Given the description of an element on the screen output the (x, y) to click on. 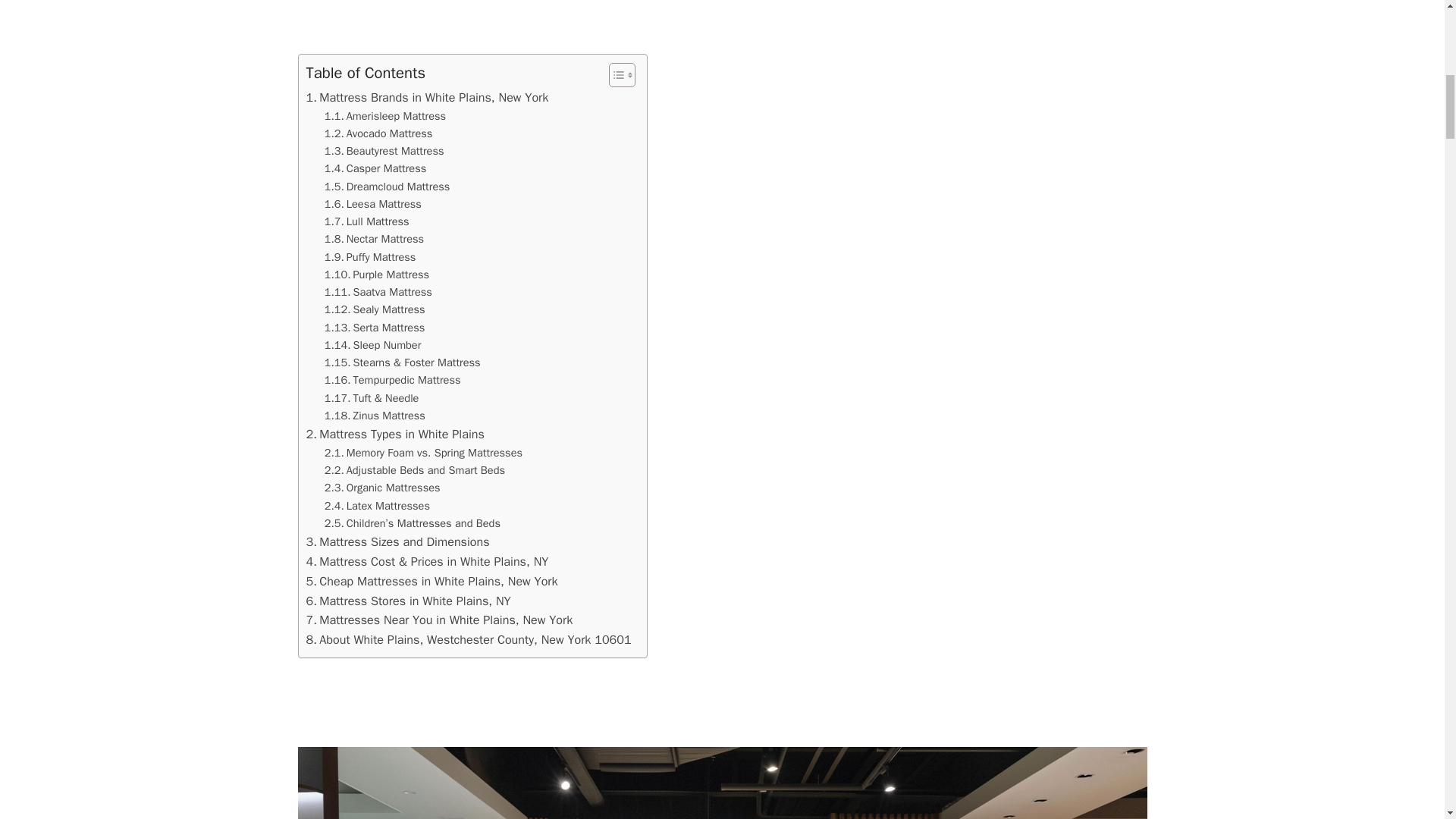
Avocado Mattress (378, 133)
Purple Mattress (376, 274)
Saatva Mattress (378, 292)
Nectar Mattress (373, 239)
Leesa Mattress (373, 203)
Amerisleep Mattress (384, 116)
Dreamcloud Mattress (386, 186)
Puffy Mattress (370, 257)
Lull Mattress (366, 221)
Casper Mattress (375, 168)
